Given the description of an element on the screen output the (x, y) to click on. 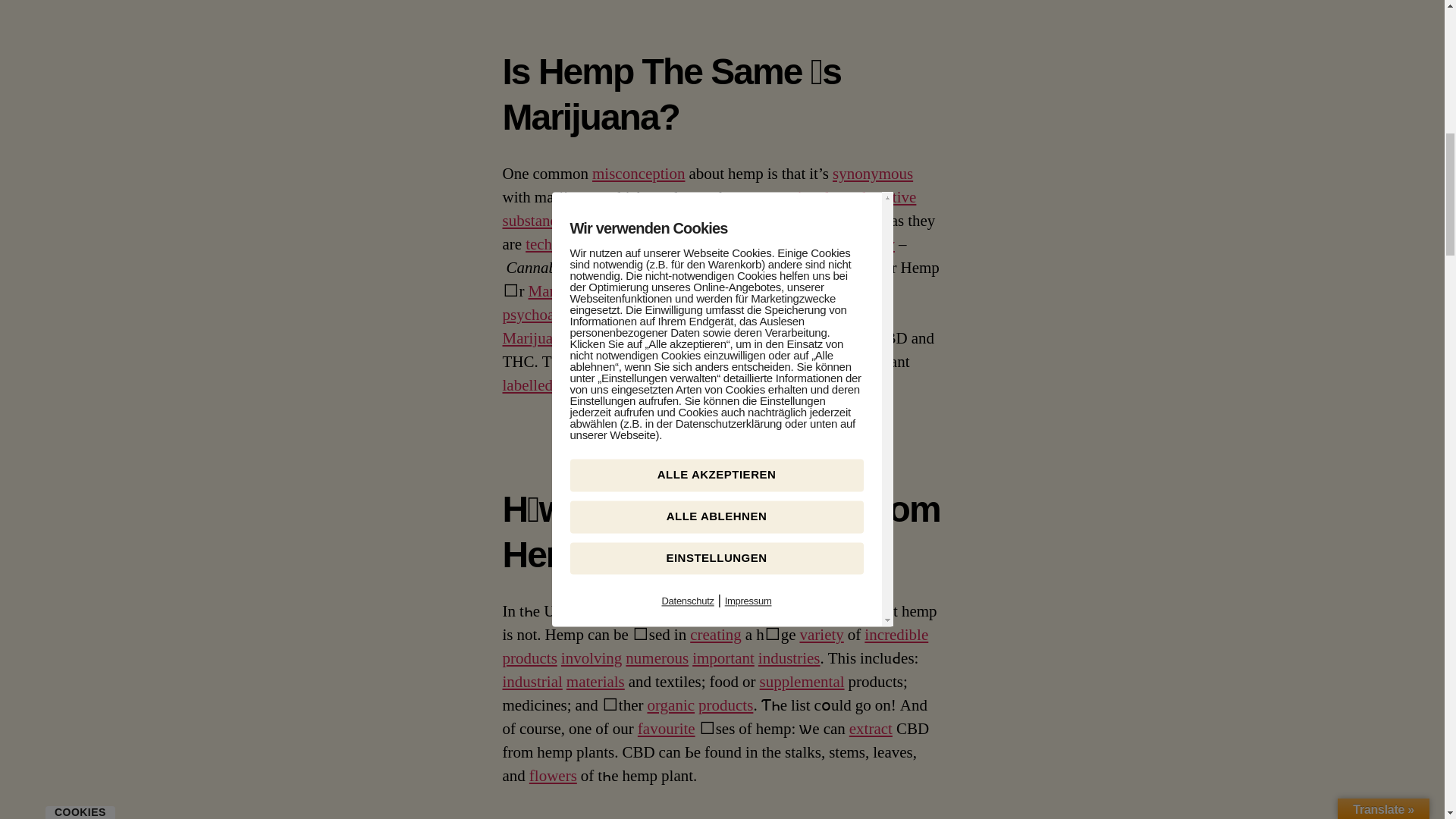
psychoactive (874, 197)
technically (560, 244)
recreational (791, 197)
variety (872, 244)
substance (533, 220)
different (654, 244)
mistake (861, 220)
understandable (644, 220)
misconception (638, 173)
synonymous (872, 173)
